Given the description of an element on the screen output the (x, y) to click on. 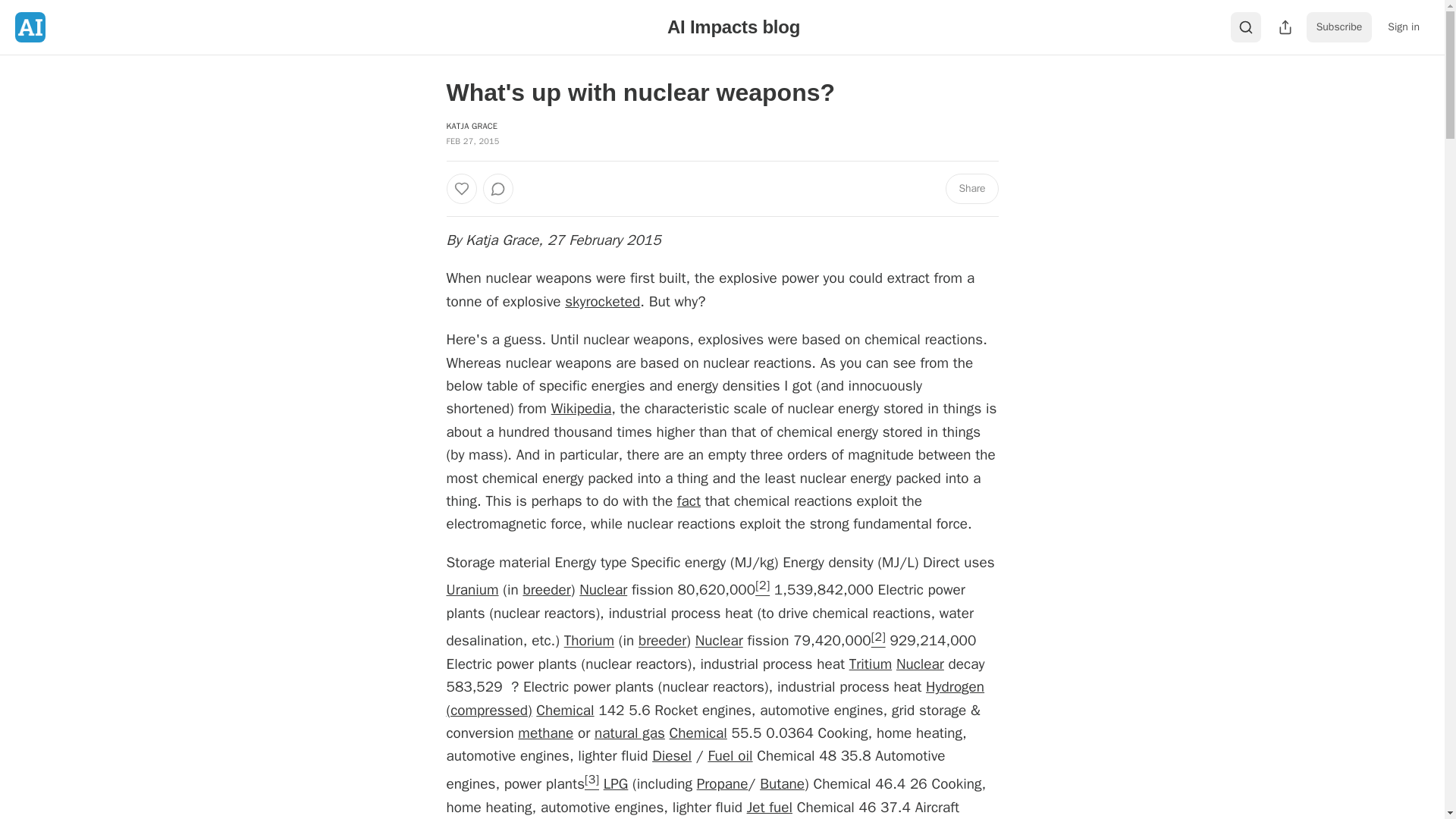
Uranium (471, 589)
Subscribe (1339, 27)
Nuclear power (919, 664)
Nuclear (603, 589)
natural gas (629, 732)
Nuclear (919, 664)
Nuclear (718, 641)
breeder (546, 589)
Liquefied petroleum gas (616, 783)
methane (545, 732)
Thorium (589, 641)
Breeder reactor (546, 589)
Sign in (1403, 27)
Chemical (564, 710)
AI Impacts blog (732, 26)
